Given the description of an element on the screen output the (x, y) to click on. 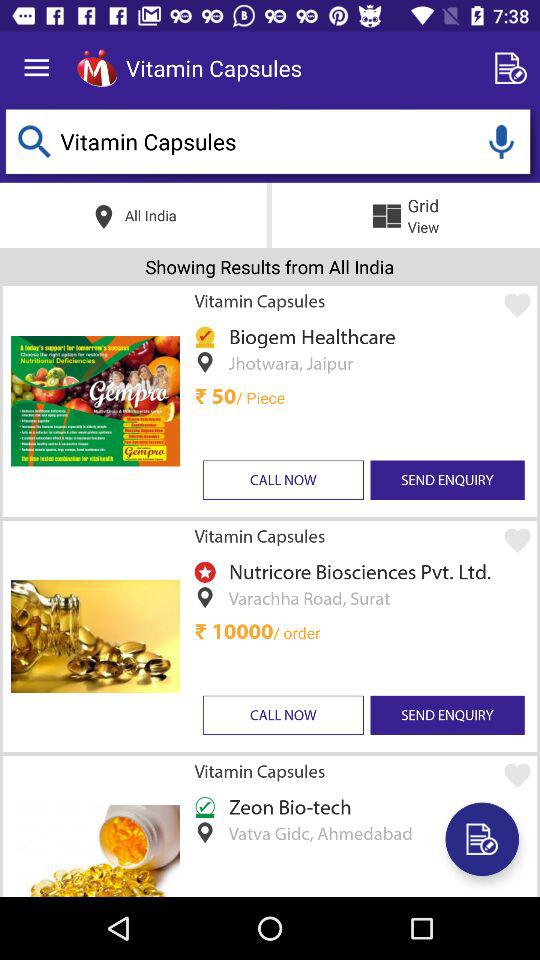
launch the item above showing results from icon (501, 141)
